Given the description of an element on the screen output the (x, y) to click on. 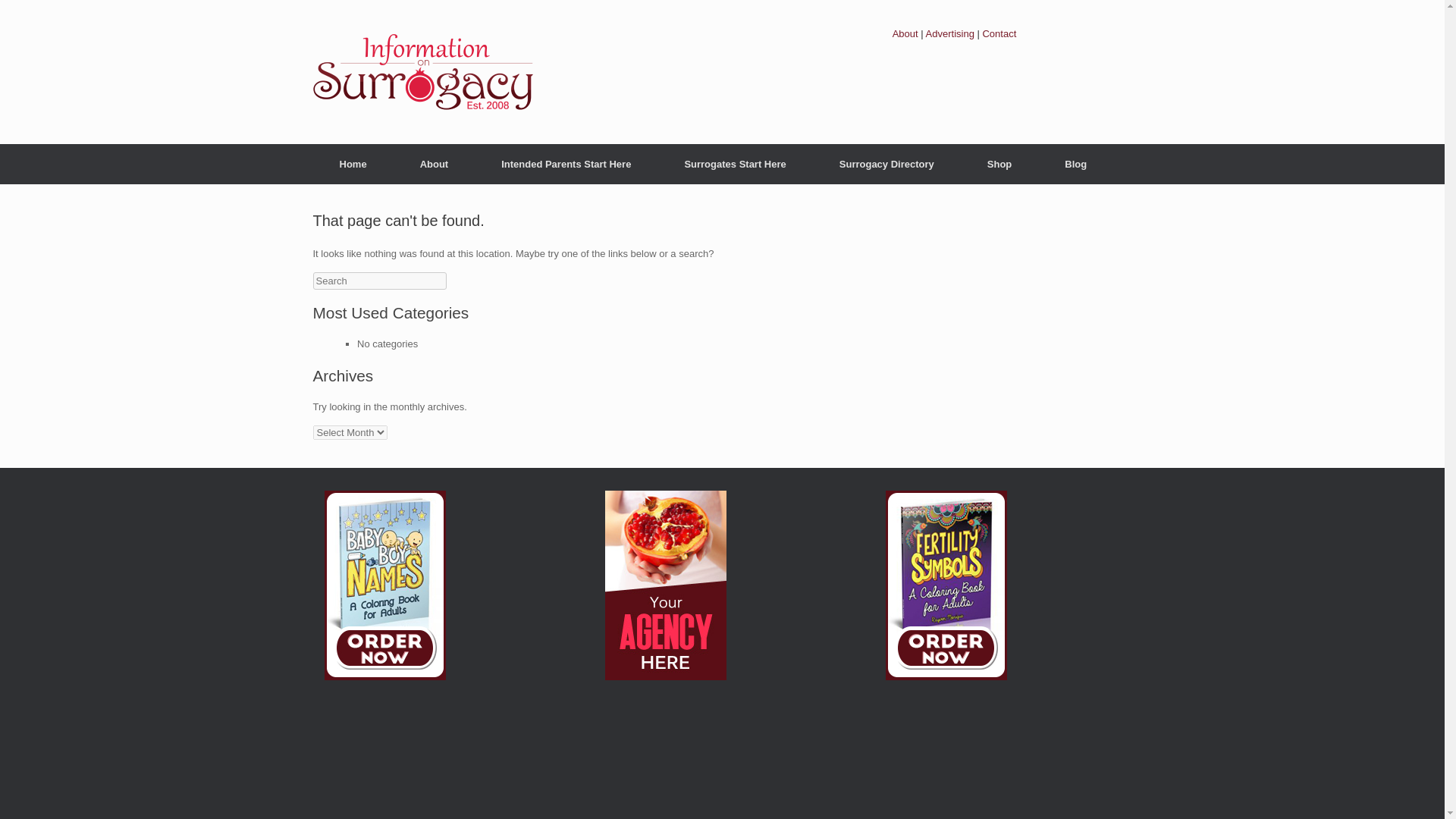
Contact (998, 33)
Intended Parents Start Here (566, 164)
Surrogacy Directory (886, 164)
Surrogates Start Here (735, 164)
About (905, 33)
About (434, 164)
Advertising (950, 33)
Home (353, 164)
Information on Surrogacy (422, 71)
